Given the description of an element on the screen output the (x, y) to click on. 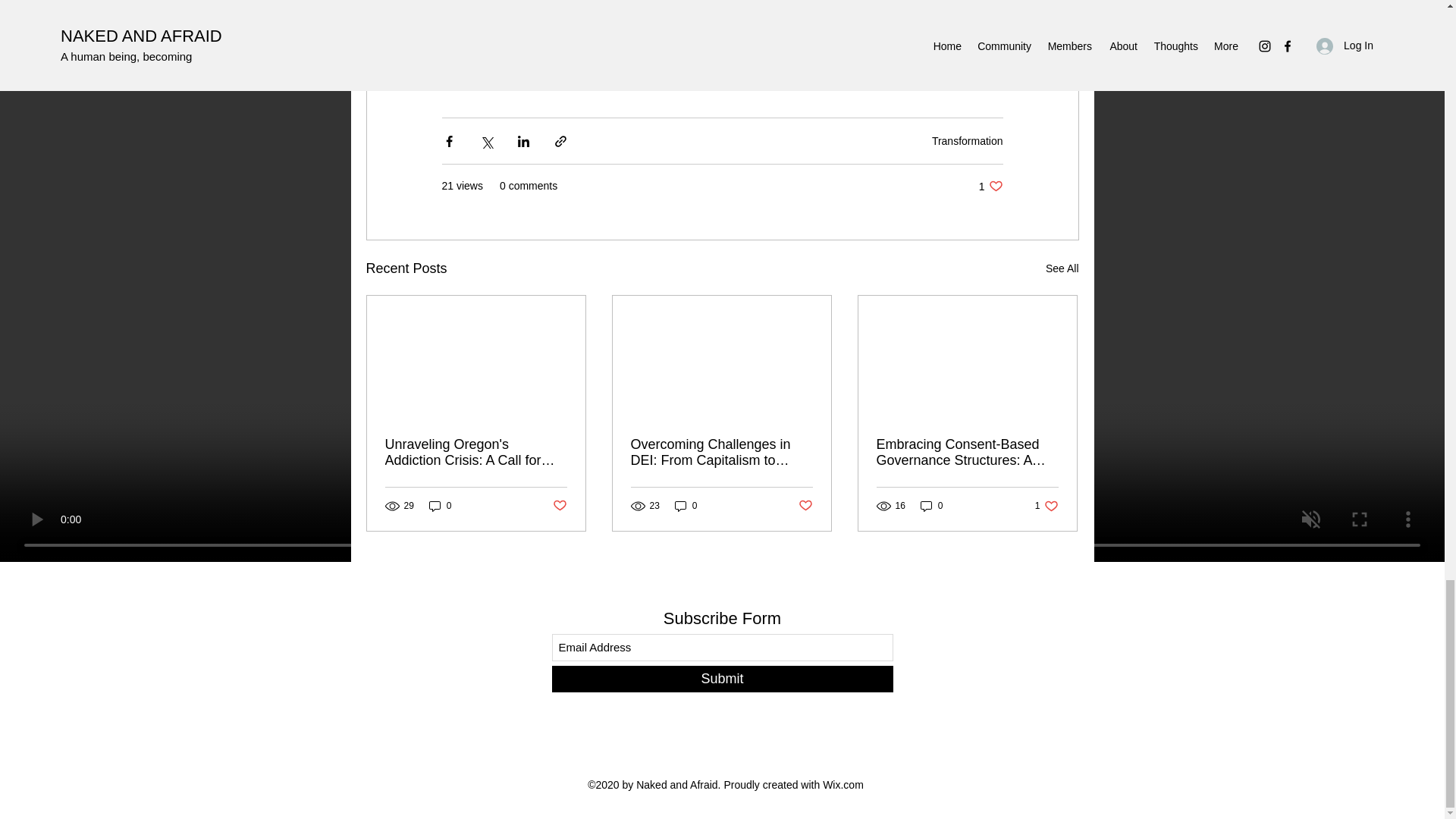
Post not marked as liked (558, 505)
Transformation (967, 141)
0 (440, 505)
0 (990, 186)
See All (685, 505)
